Given the description of an element on the screen output the (x, y) to click on. 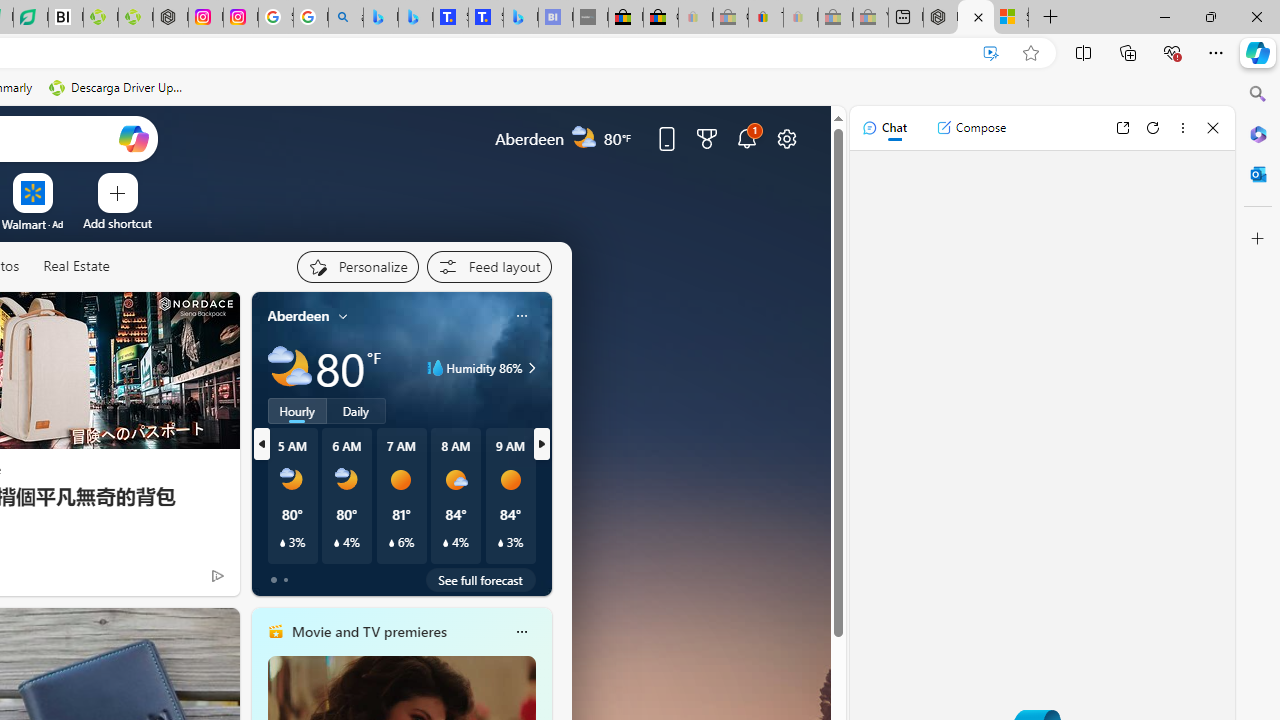
Aberdeen (298, 315)
Nordace - Nordace Edin Collection (170, 17)
LendingTree - Compare Lenders (31, 17)
You're following The Weather Channel (175, 579)
